Given the description of an element on the screen output the (x, y) to click on. 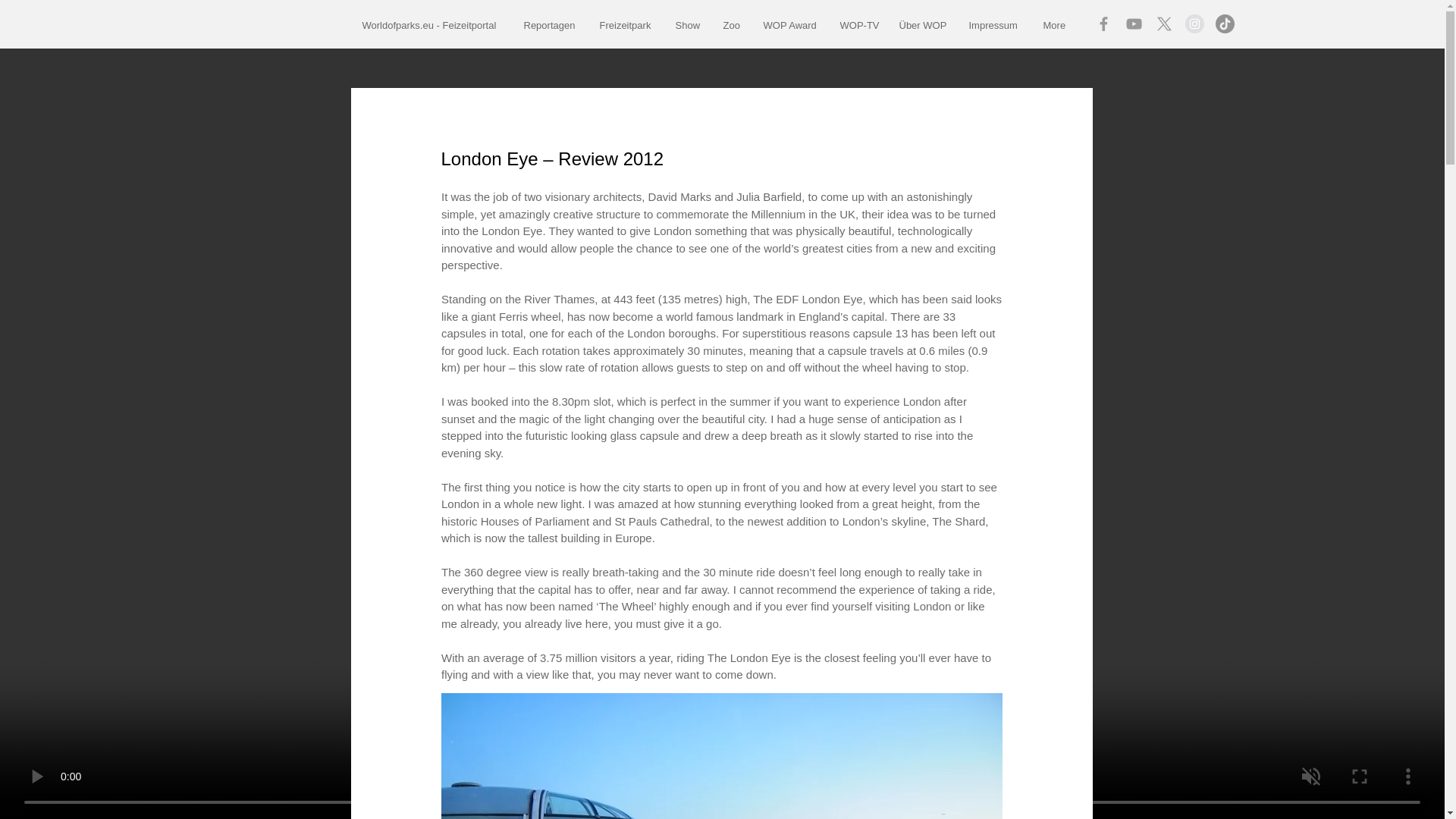
Freizeitpark (625, 25)
Show (687, 25)
WOP Award (790, 25)
Reportagen (550, 25)
WOP-TV (857, 25)
Zoo (731, 25)
Worldofparks.eu - Feizeitportal (431, 25)
